Given the description of an element on the screen output the (x, y) to click on. 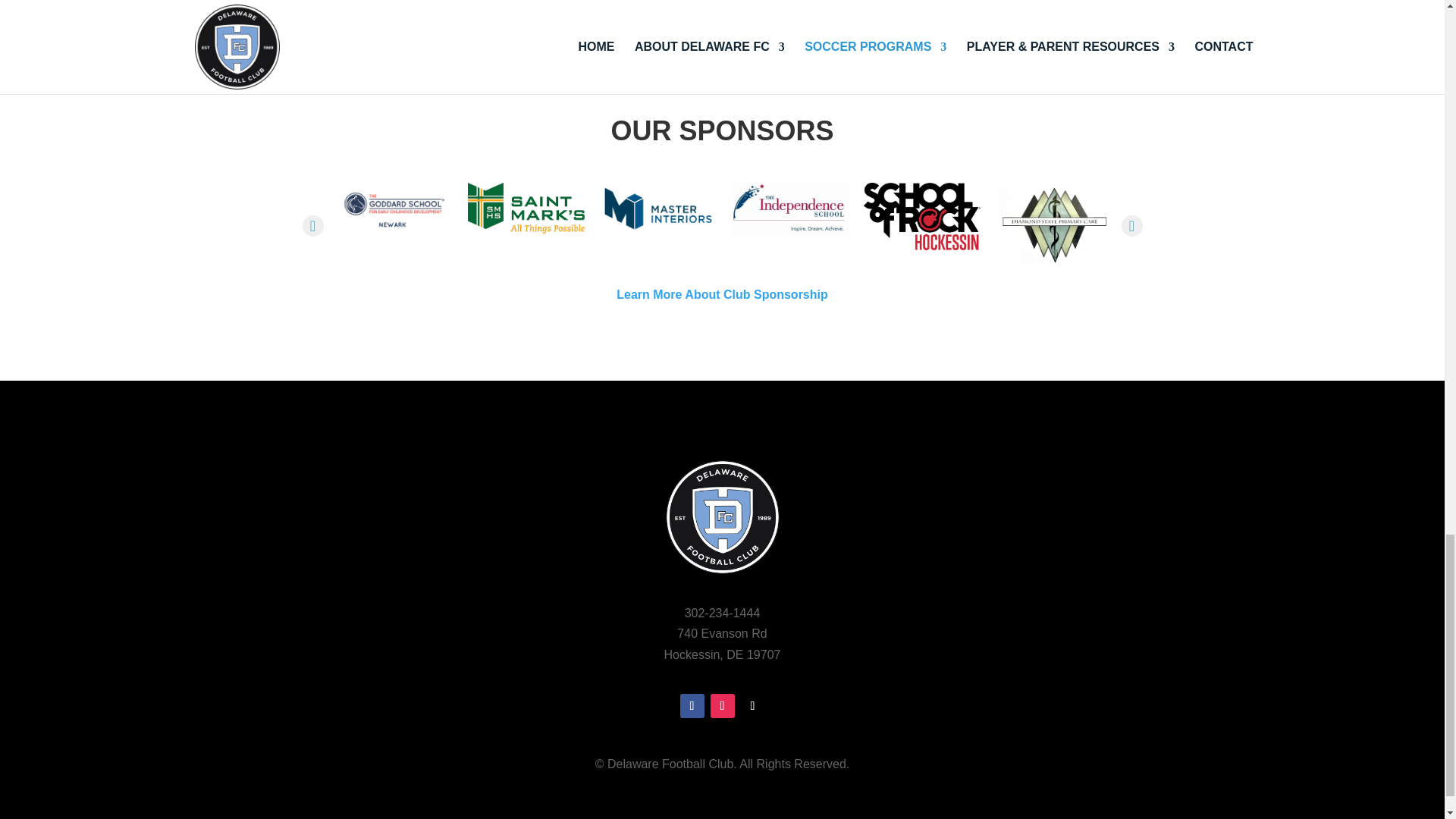
Stacked-Main (921, 216)
DSPC Logo (1053, 225)
